Given the description of an element on the screen output the (x, y) to click on. 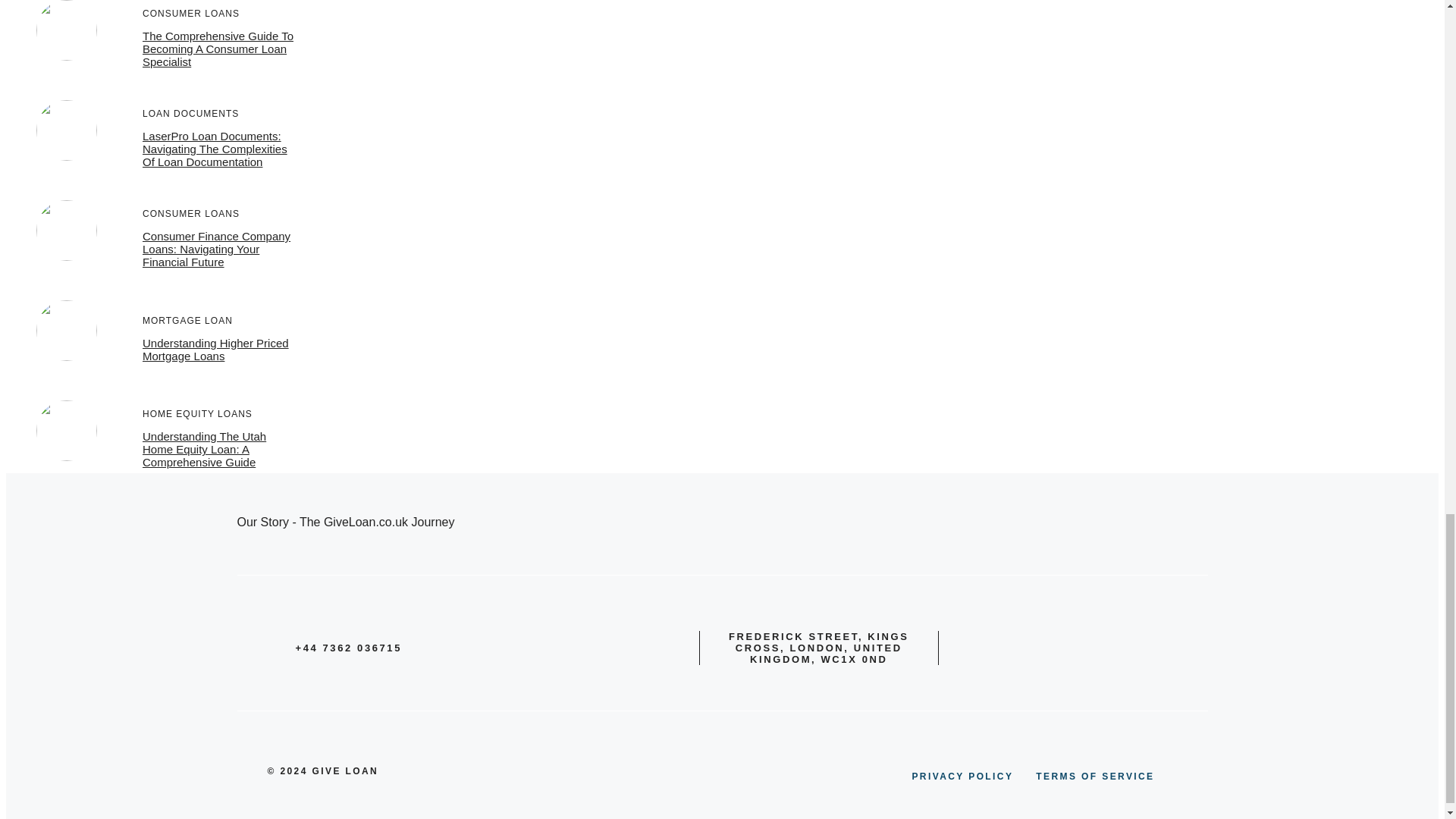
Understanding Higher Priced Mortgage Loans (215, 349)
TERMS OF SERVICE (1094, 776)
PRIVACY POLICY (962, 776)
